Given the description of an element on the screen output the (x, y) to click on. 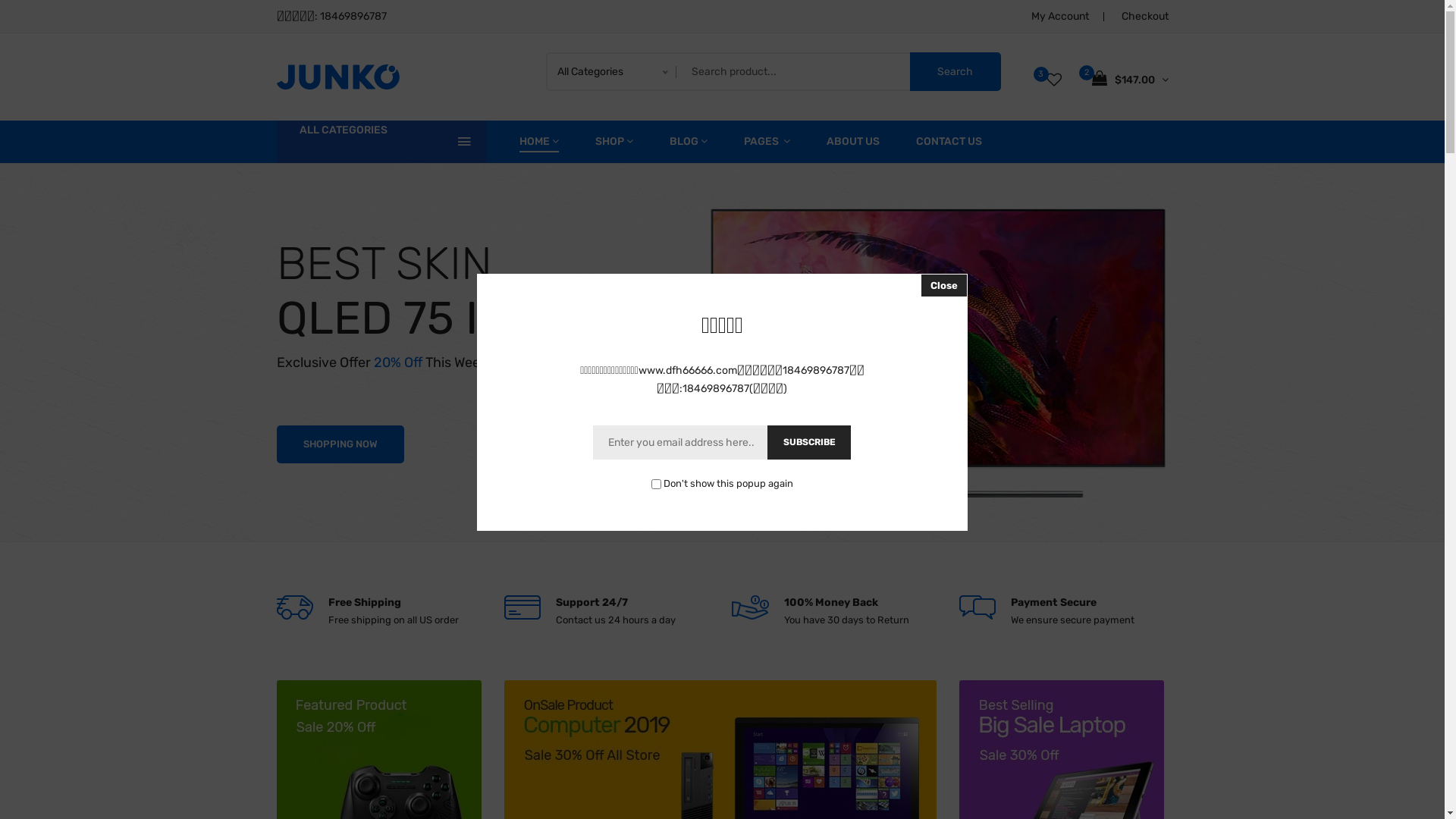
BLOG Element type: text (687, 141)
$147.00 Element type: text (1130, 78)
CONTACT US Element type: text (949, 141)
SUBSCRIBE Element type: text (808, 442)
18469896787 Element type: text (353, 15)
Search Element type: text (955, 71)
PAGES Element type: text (766, 141)
ABOUT US Element type: text (852, 141)
My Account Element type: text (1059, 16)
HOME Element type: text (538, 141)
SHOP Element type: text (613, 141)
SHOPPING NOW Element type: text (339, 443)
Checkout Element type: text (1143, 16)
